Given the description of an element on the screen output the (x, y) to click on. 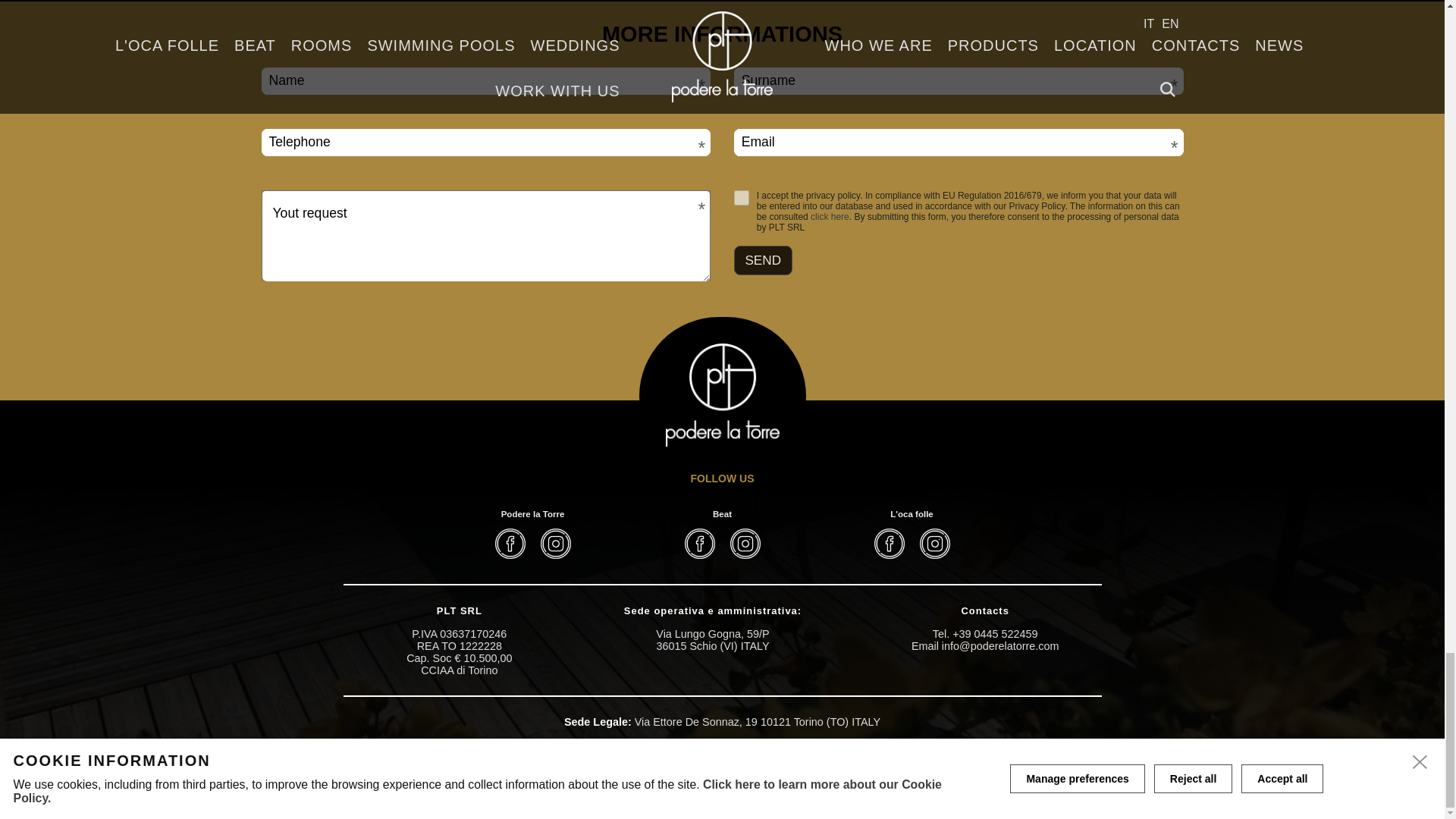
1 (741, 197)
